Given the description of an element on the screen output the (x, y) to click on. 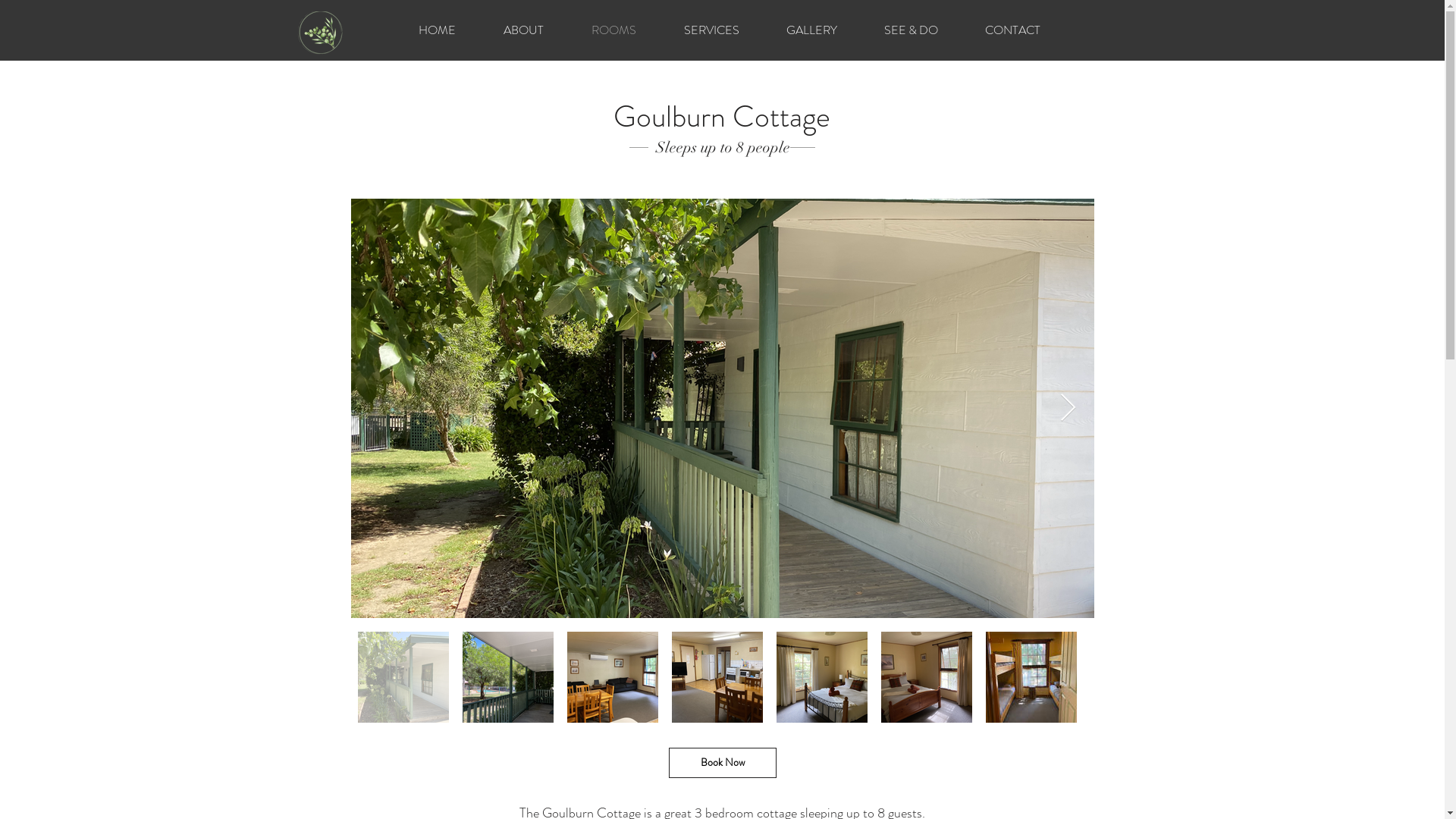
SEE & DO Element type: text (909, 30)
Book Now Element type: text (722, 762)
HOME Element type: text (436, 30)
GALLERY Element type: text (811, 30)
CONTACT Element type: text (1012, 30)
ABOUT Element type: text (523, 30)
ROOMS Element type: text (613, 30)
SERVICES Element type: text (710, 30)
